Given the description of an element on the screen output the (x, y) to click on. 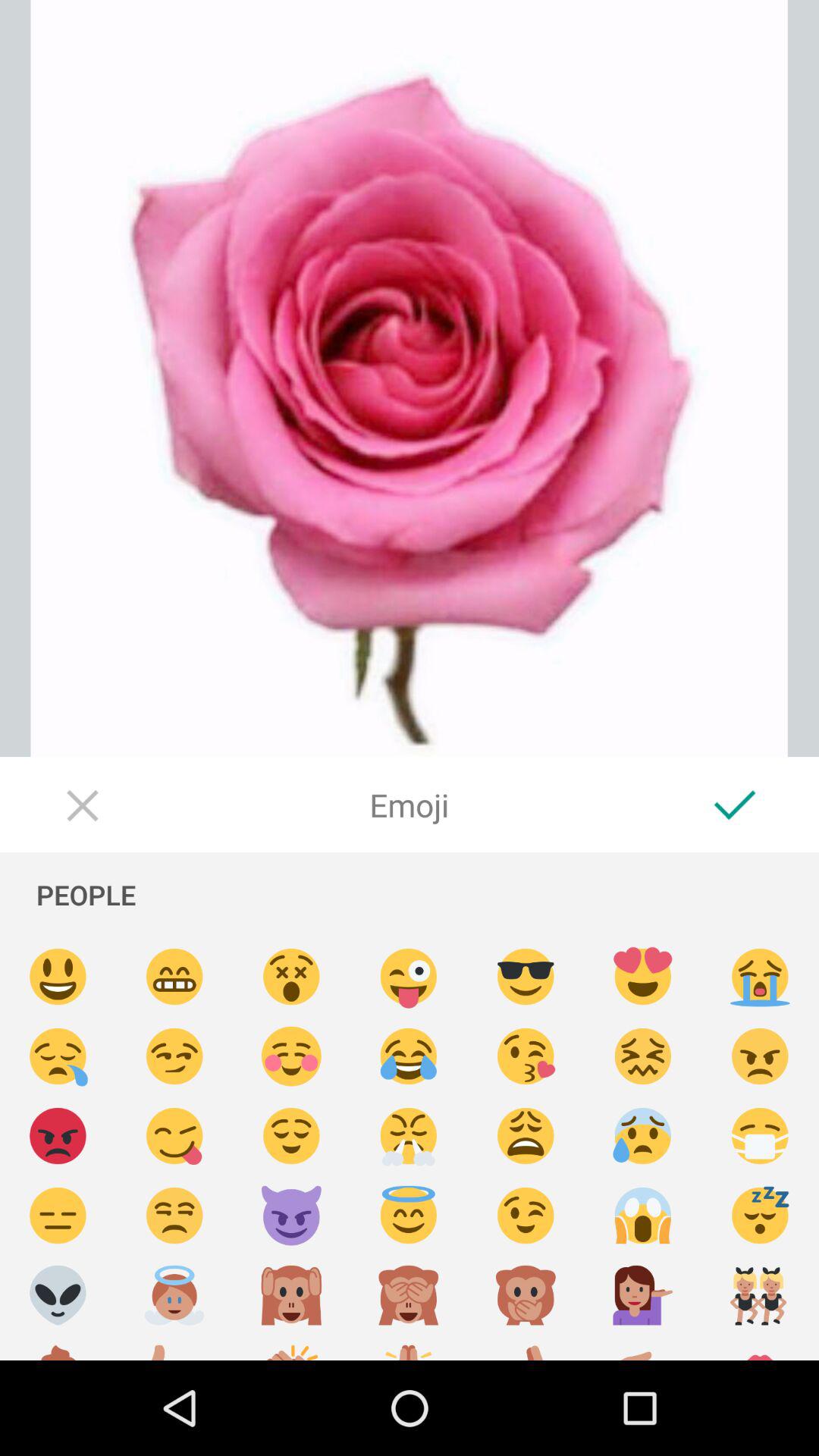
monkey emoji (291, 1295)
